Given the description of an element on the screen output the (x, y) to click on. 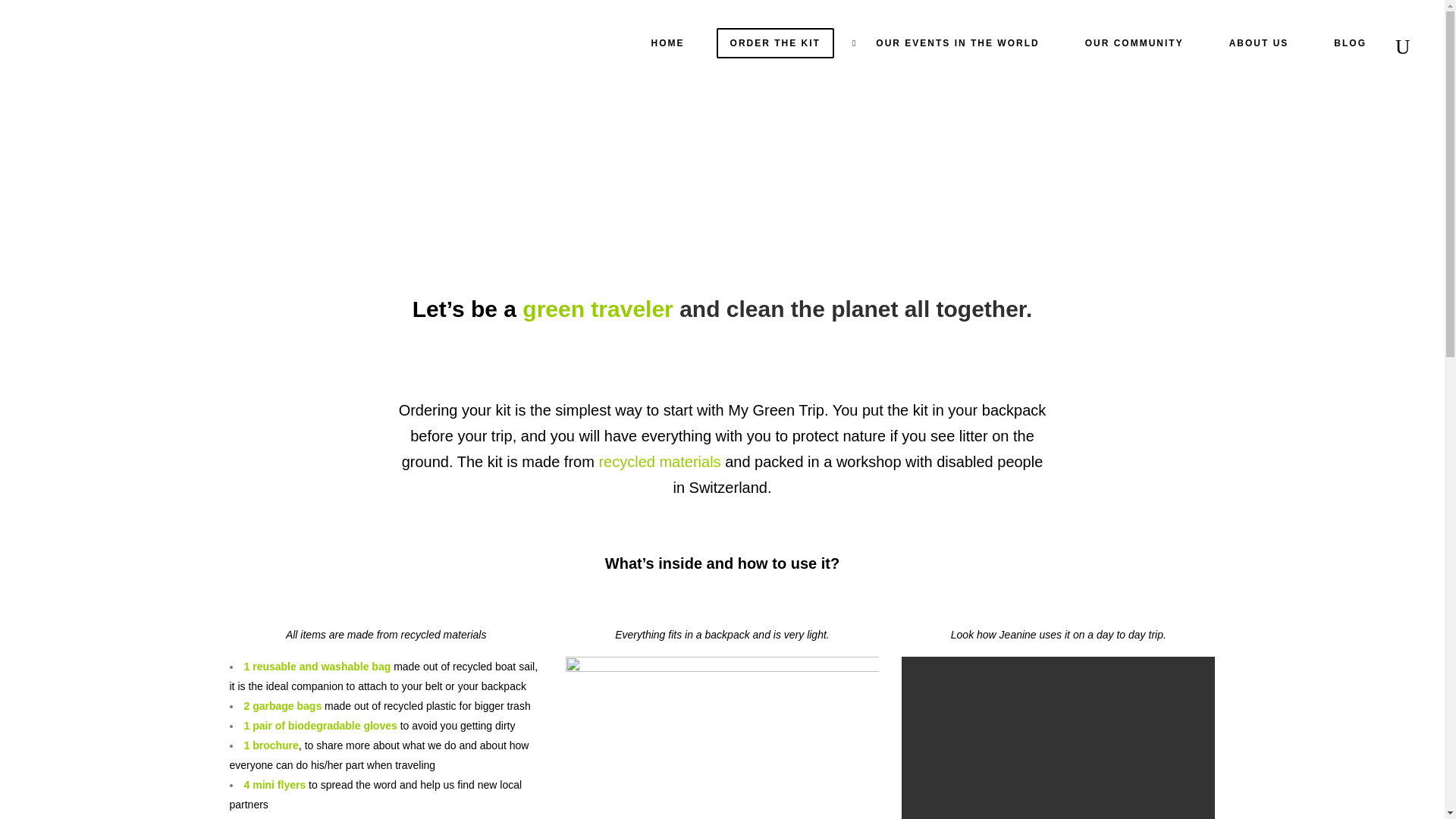
HOME (667, 43)
ORDER THE KIT (775, 43)
BLOG (1350, 43)
ABOUT US (1259, 43)
OUR COMMUNITY (1134, 43)
OUR EVENTS IN THE WORLD (952, 43)
